Given the description of an element on the screen output the (x, y) to click on. 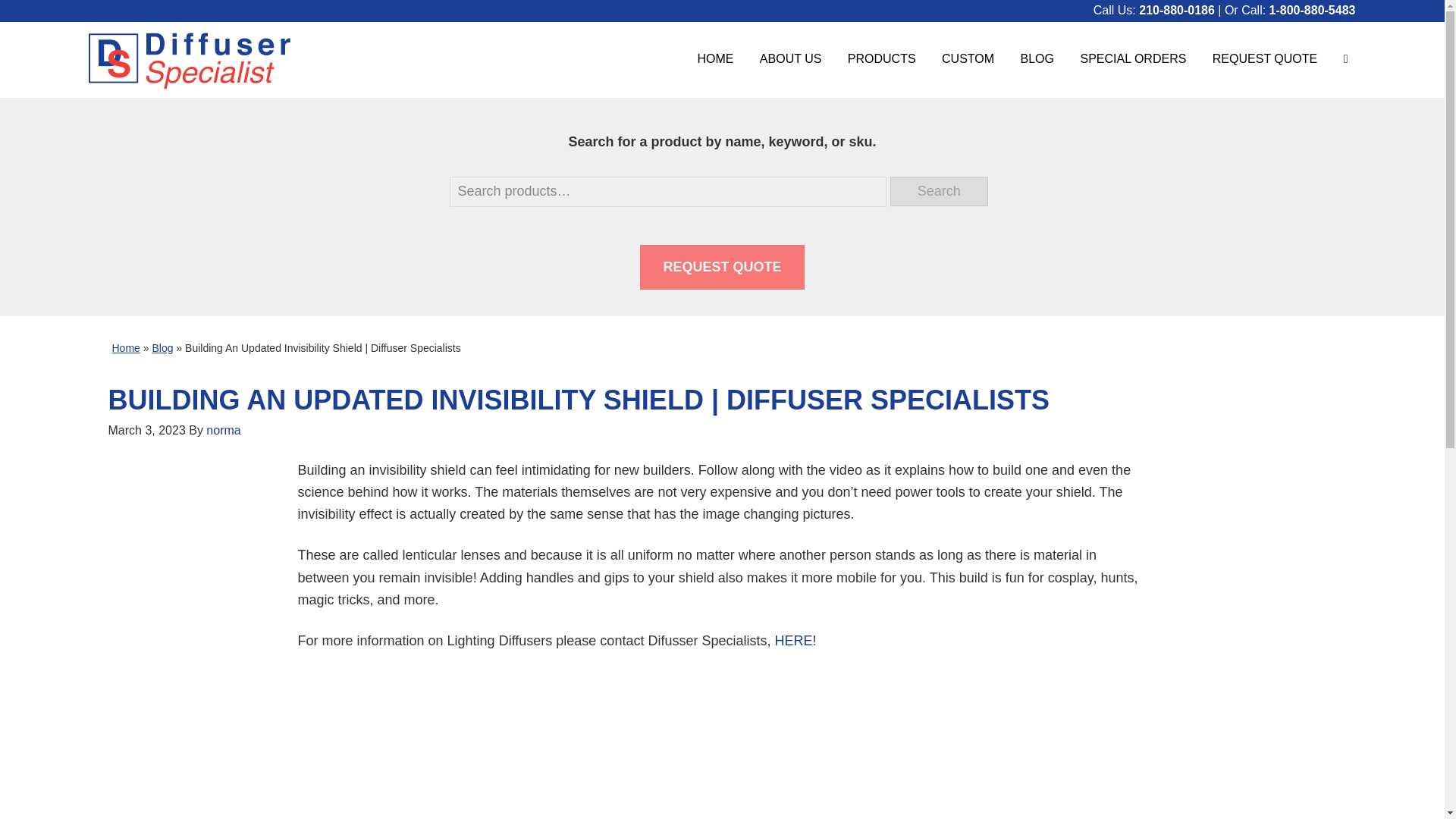
Search (938, 190)
Click here to call (1176, 10)
HERE (793, 640)
REQUEST QUOTE (1264, 58)
CUSTOM (968, 58)
Diffuser Specialist (188, 59)
Blog (162, 347)
SPECIAL ORDERS (1132, 58)
norma (223, 429)
REQUEST QUOTE (721, 266)
HOME (714, 58)
210-880-0186 (1176, 10)
PRODUCTS (881, 58)
BLOG (1037, 58)
Home (125, 347)
